Given the description of an element on the screen output the (x, y) to click on. 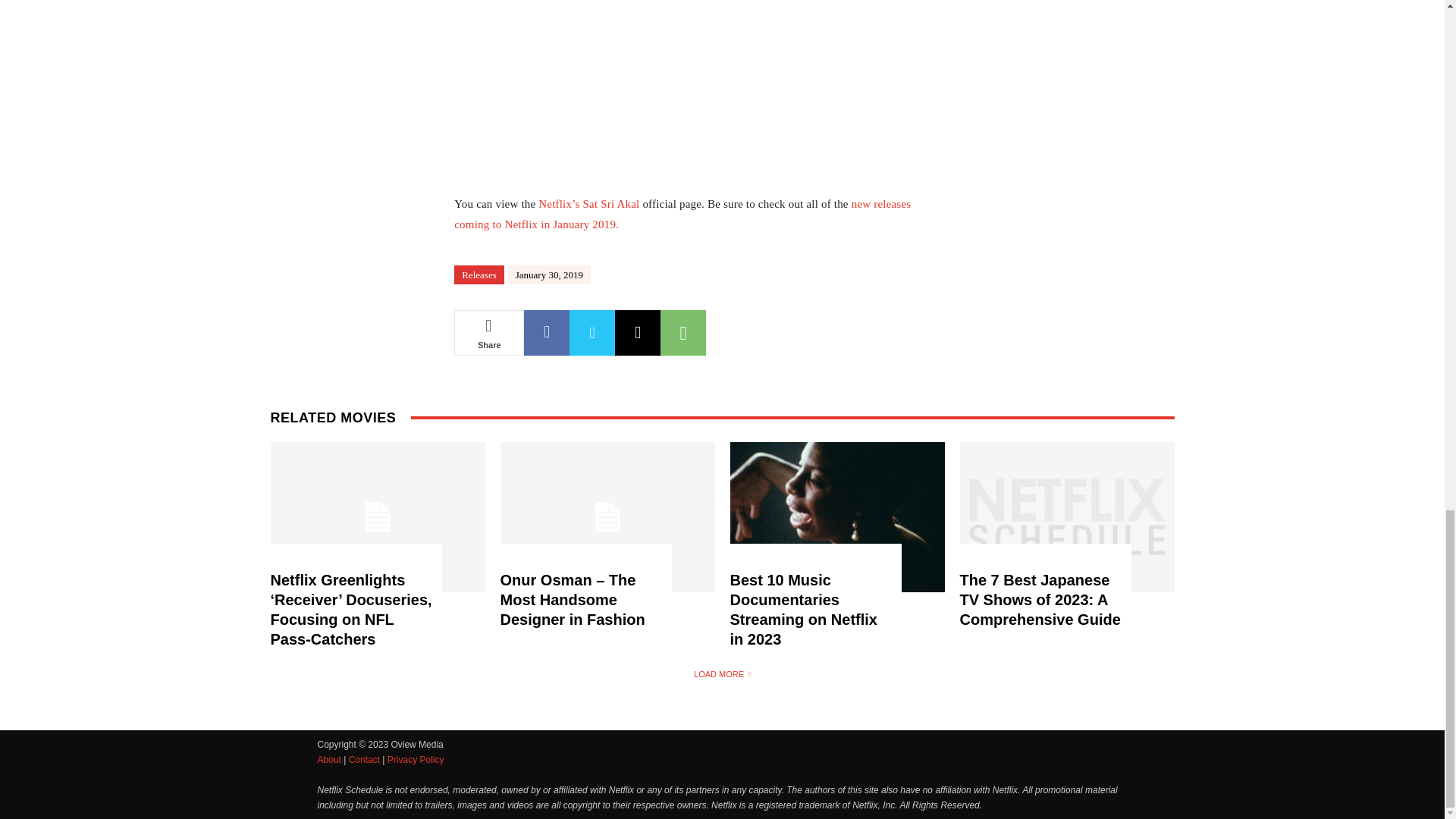
LOAD MORE (721, 674)
Contact (364, 759)
January 30, 2019 (549, 274)
About (328, 759)
Best 10 Music Documentaries Streaming on Netflix in 2023 (802, 609)
The 7 Best Japanese TV Shows of 2023: A Comprehensive Guide (1040, 599)
new releases coming to Netflix in January 2019. (682, 214)
